Given the description of an element on the screen output the (x, y) to click on. 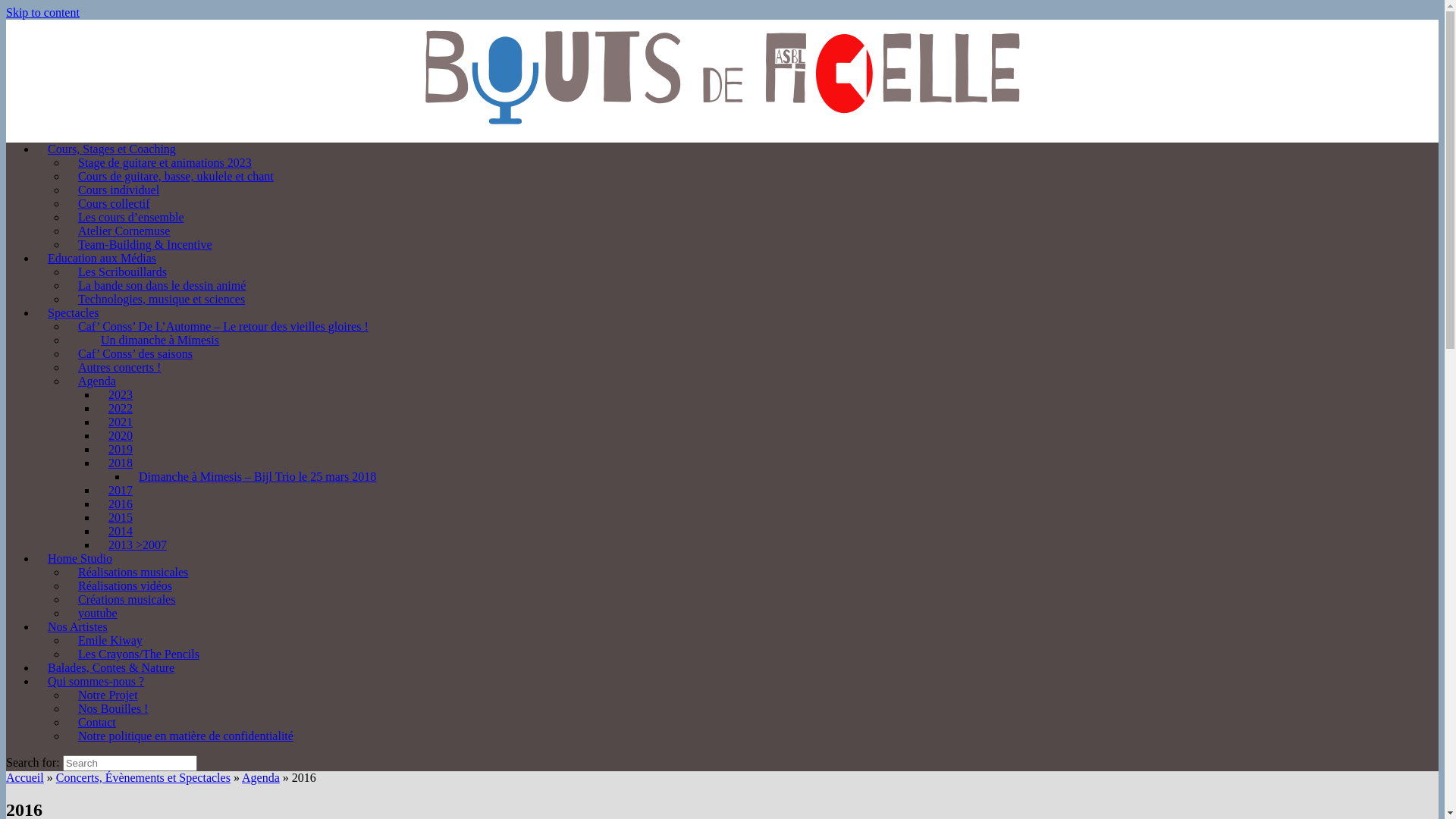
Les Scribouillards Element type: text (122, 271)
Cours de guitare, basse, ukulele et chant Element type: text (175, 175)
Notre Projet Element type: text (107, 694)
Home Studio Element type: text (79, 558)
Nos Bouilles ! Element type: text (112, 708)
2022 Element type: text (120, 407)
Bouts de ficelle Element type: hover (722, 74)
Emile Kiway Element type: text (109, 639)
Contact Element type: text (96, 721)
Autres concerts ! Element type: text (119, 366)
2023 Element type: text (120, 394)
Cours, Stages et Coaching Element type: text (111, 148)
2013 >2007 Element type: text (137, 544)
Cours individuel Element type: text (118, 189)
Accueil Element type: text (24, 777)
Balades, Contes & Nature Element type: text (110, 667)
Stage de guitare et animations 2023 Element type: text (164, 162)
2019 Element type: text (120, 448)
youtube Element type: text (97, 612)
2018 Element type: text (120, 462)
2020 Element type: text (120, 435)
Team-Building & Incentive Element type: text (144, 244)
Nos Artistes Element type: text (77, 626)
Qui sommes-nous ? Element type: text (95, 680)
2014 Element type: text (120, 530)
2015 Element type: text (120, 517)
Technologies, musique et sciences Element type: text (161, 298)
2016 Element type: text (120, 503)
Atelier Cornemuse Element type: text (123, 230)
Skip to content Element type: text (42, 12)
Agenda Element type: text (260, 777)
Cours collectif Element type: text (113, 203)
2017 Element type: text (120, 489)
Agenda Element type: text (96, 380)
Spectacles Element type: text (73, 312)
Les Crayons/The Pencils Element type: text (138, 653)
2021 Element type: text (120, 421)
